Given the description of an element on the screen output the (x, y) to click on. 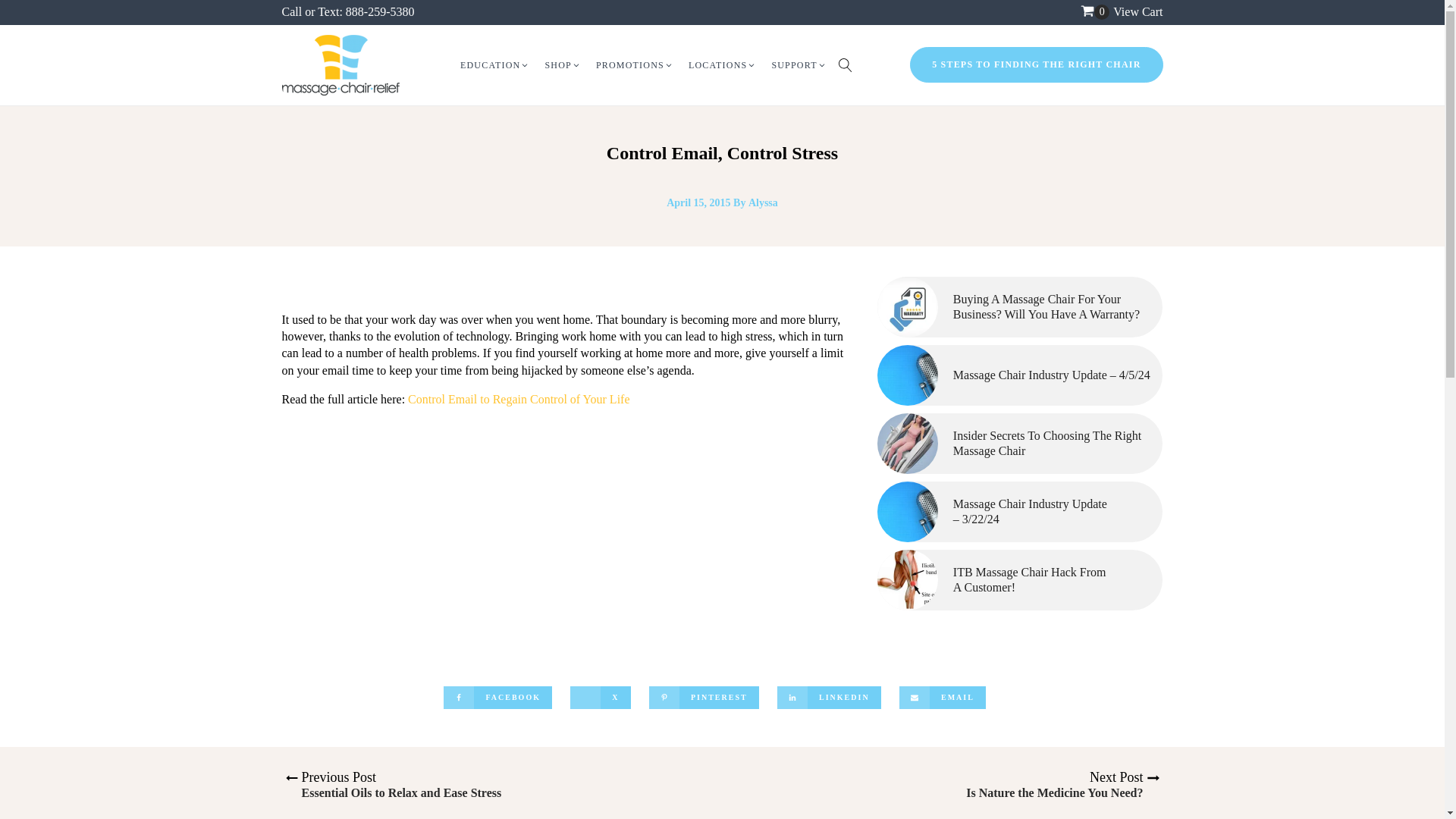
Control Email to Regain Control of Your LIfe (517, 399)
Go to Cart (1094, 12)
SHOP (562, 65)
View Cart (1137, 11)
EDUCATION (494, 65)
Call or Text: 888-259-5380 (348, 11)
